Given the description of an element on the screen output the (x, y) to click on. 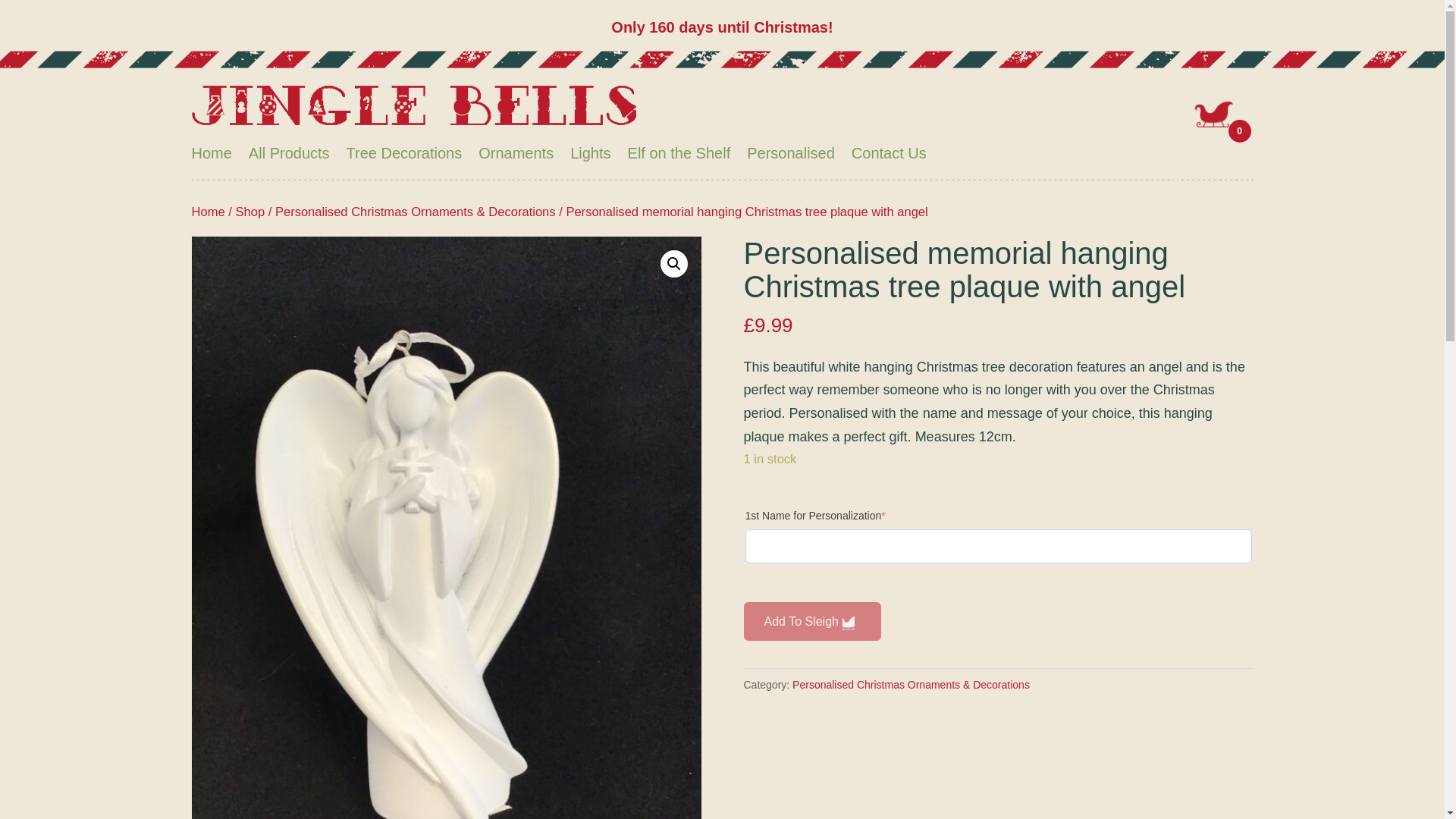
All Products (289, 152)
Shop (249, 211)
Ornaments (516, 152)
Elf on the Shelf (678, 152)
Lights (590, 152)
Personalised (790, 152)
Home (210, 152)
Tree Decorations (404, 152)
Add To Sleigh (811, 620)
Home (207, 211)
Contact Us (888, 152)
